Given the description of an element on the screen output the (x, y) to click on. 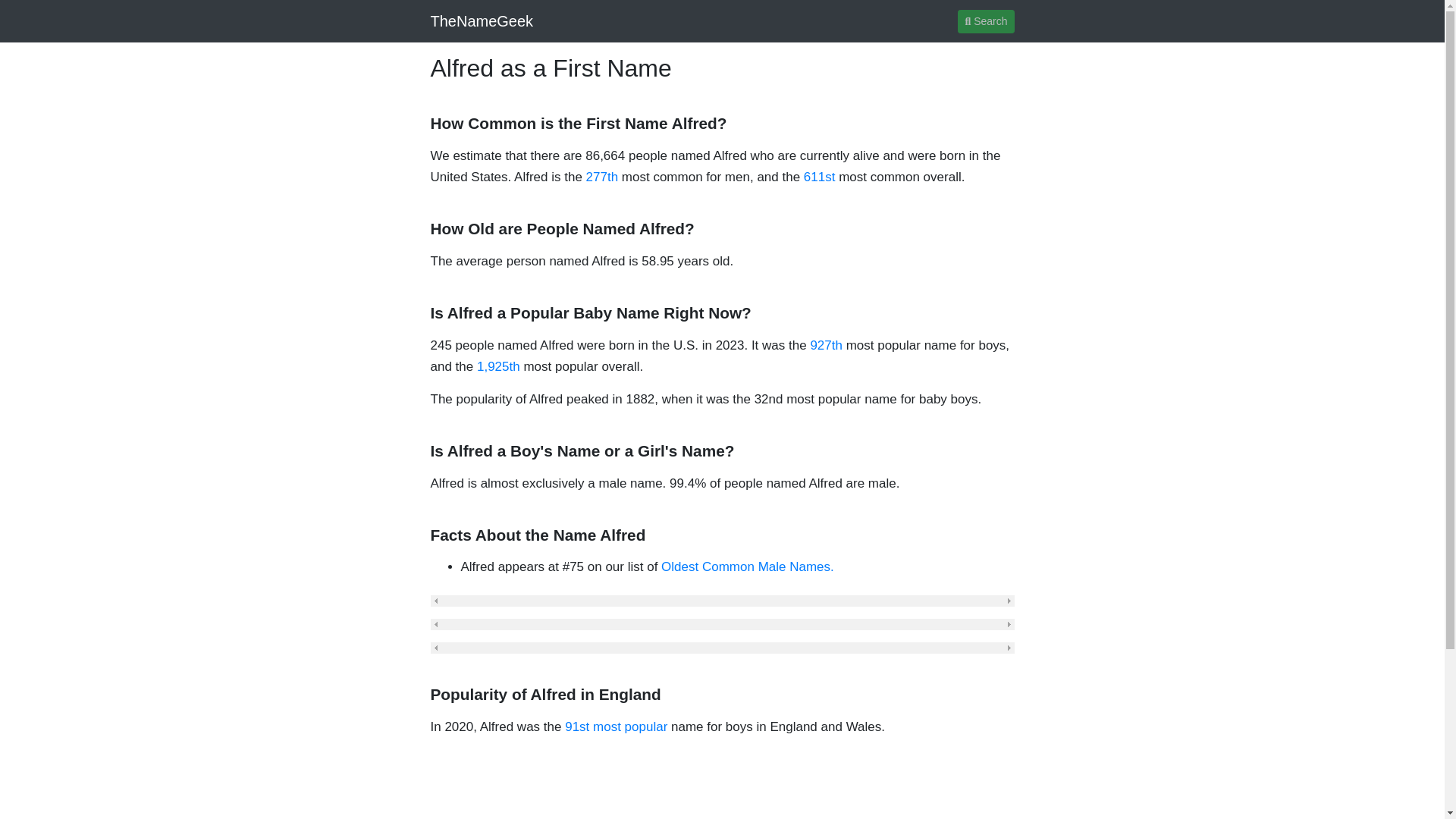
927th (826, 345)
611st (819, 176)
TheNameGeek (482, 20)
Search (985, 20)
277th (602, 176)
Oldest Common Male Names. (747, 566)
1,925th (498, 366)
91st most popular (615, 726)
